Given the description of an element on the screen output the (x, y) to click on. 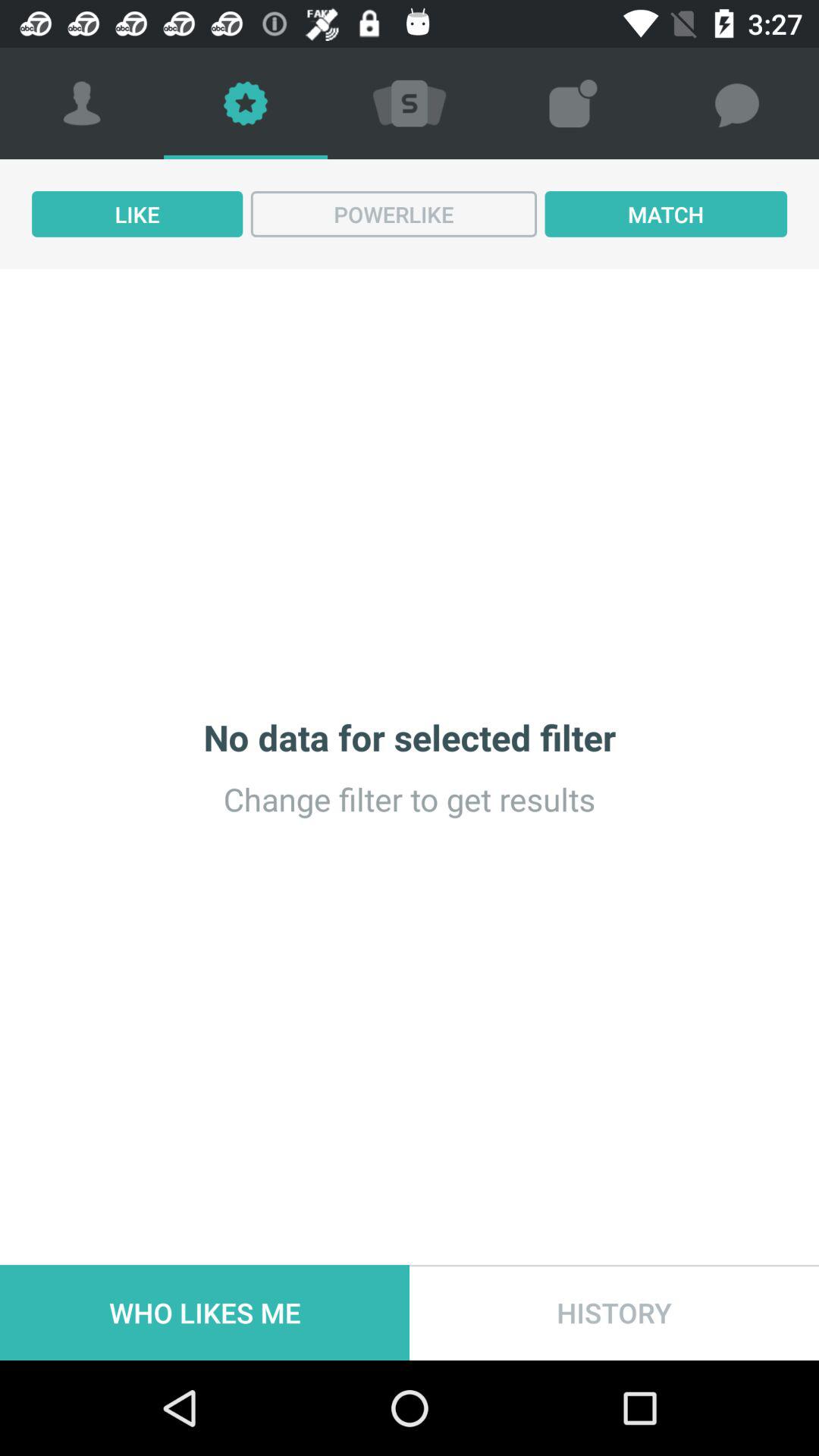
turn off item to the left of the history (204, 1312)
